Given the description of an element on the screen output the (x, y) to click on. 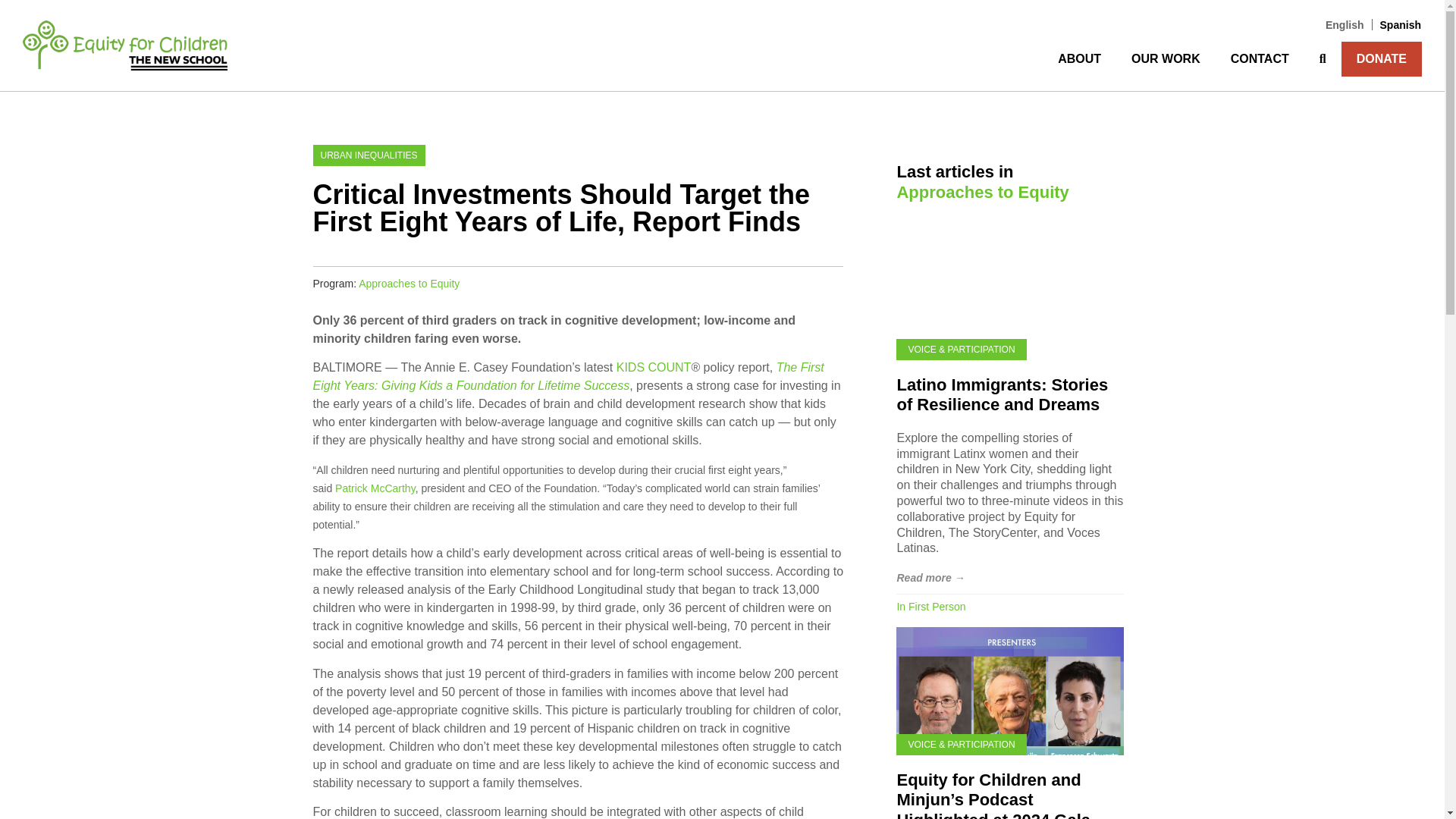
Spanish (1397, 24)
English (1345, 24)
OUR WORK (1165, 58)
CONTACT (1259, 58)
DONATE (1381, 58)
ABOUT (1079, 58)
